Given the description of an element on the screen output the (x, y) to click on. 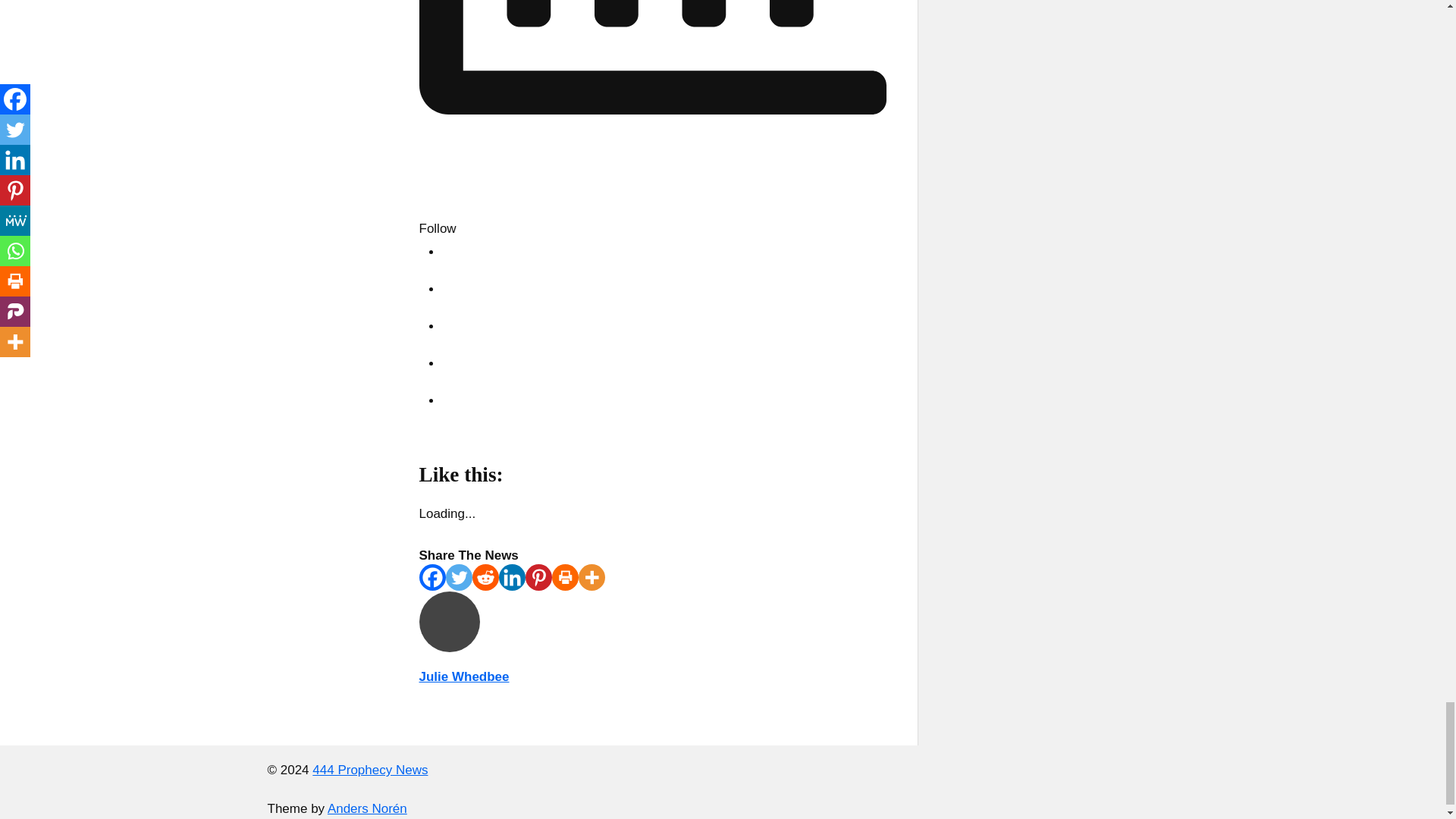
YouTube (459, 326)
More (591, 577)
Facebook (459, 251)
Pinterest (537, 577)
Reddit (484, 577)
Print (564, 577)
Linkedin (512, 577)
Parler (459, 400)
Twitter (458, 577)
Facebook (432, 577)
